Given the description of an element on the screen output the (x, y) to click on. 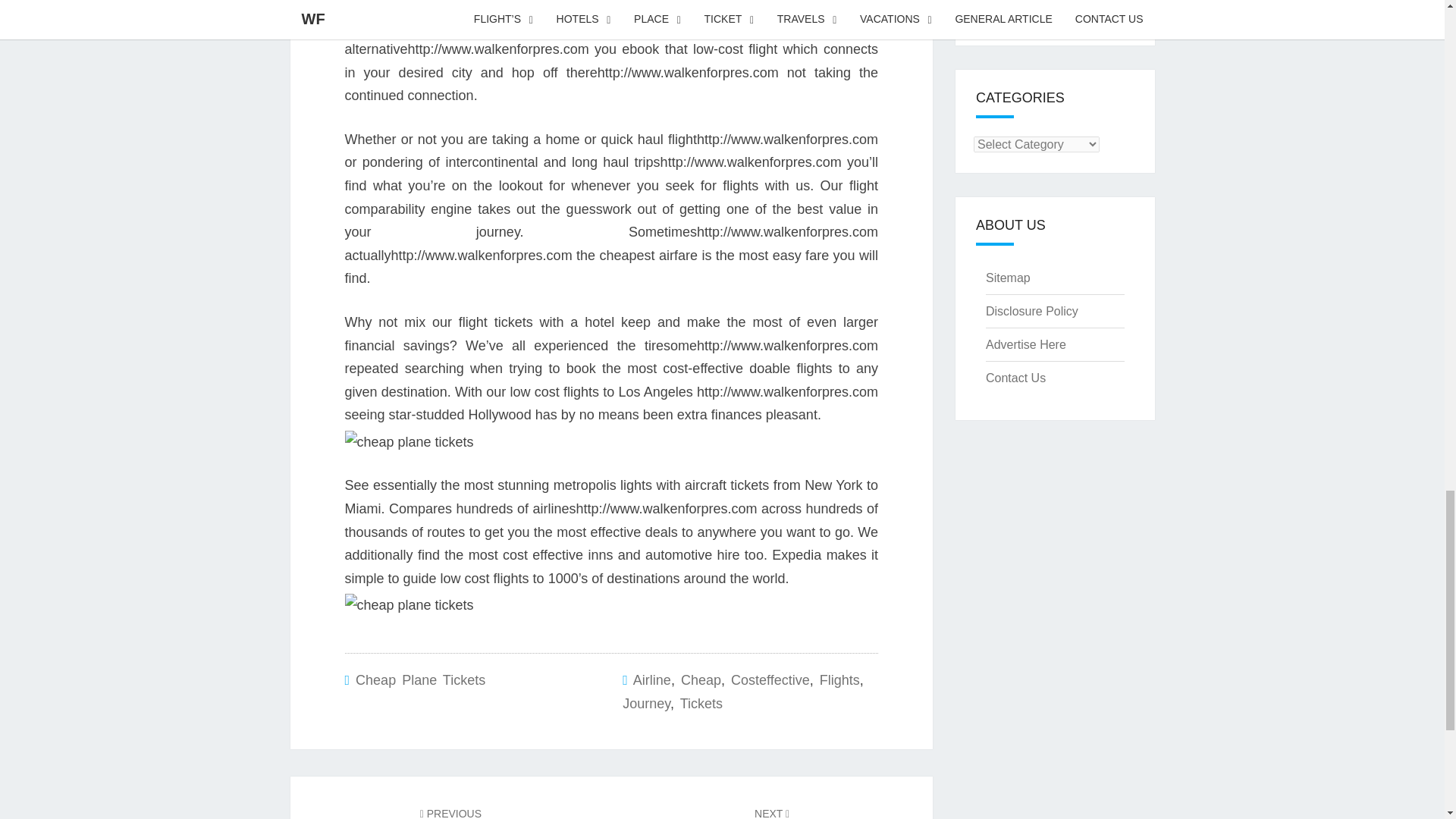
Cheap Plane Tickets (419, 679)
Journey (646, 703)
Cheap (700, 679)
Tickets (700, 703)
Airline (652, 679)
Flights (839, 679)
Costeffective (769, 679)
